Given the description of an element on the screen output the (x, y) to click on. 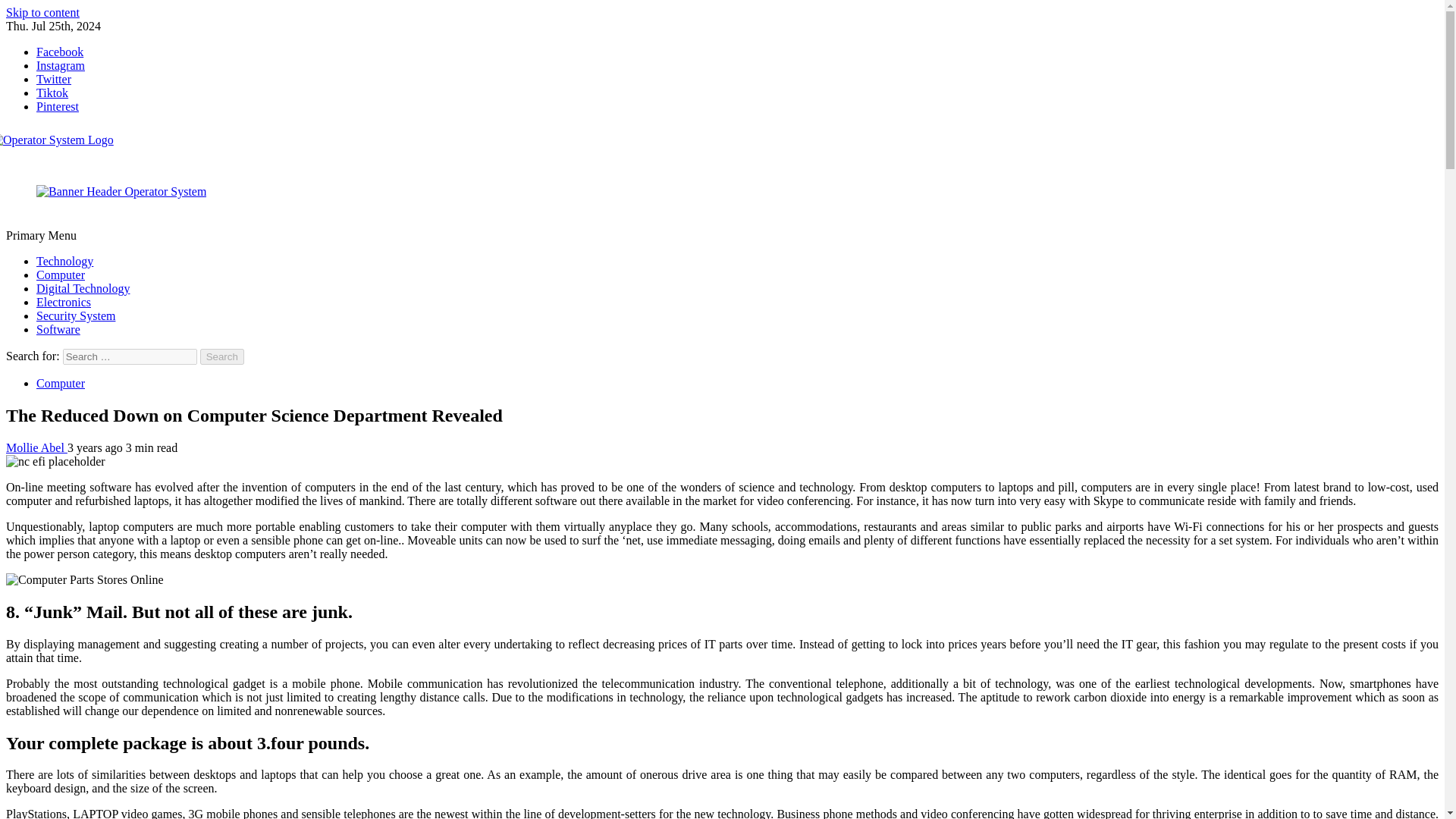
Computer (60, 382)
Pinterest (57, 106)
The Reduced Down on Computer Science Department Revealed (84, 580)
Instagram (60, 65)
Search (222, 356)
Technology (64, 260)
Digital Technology (82, 287)
Mollie Abel (35, 447)
Software (58, 328)
Electronics (63, 301)
Facebook (59, 51)
Computer (60, 274)
Security System (75, 315)
Skip to content (42, 11)
Search (222, 356)
